Given the description of an element on the screen output the (x, y) to click on. 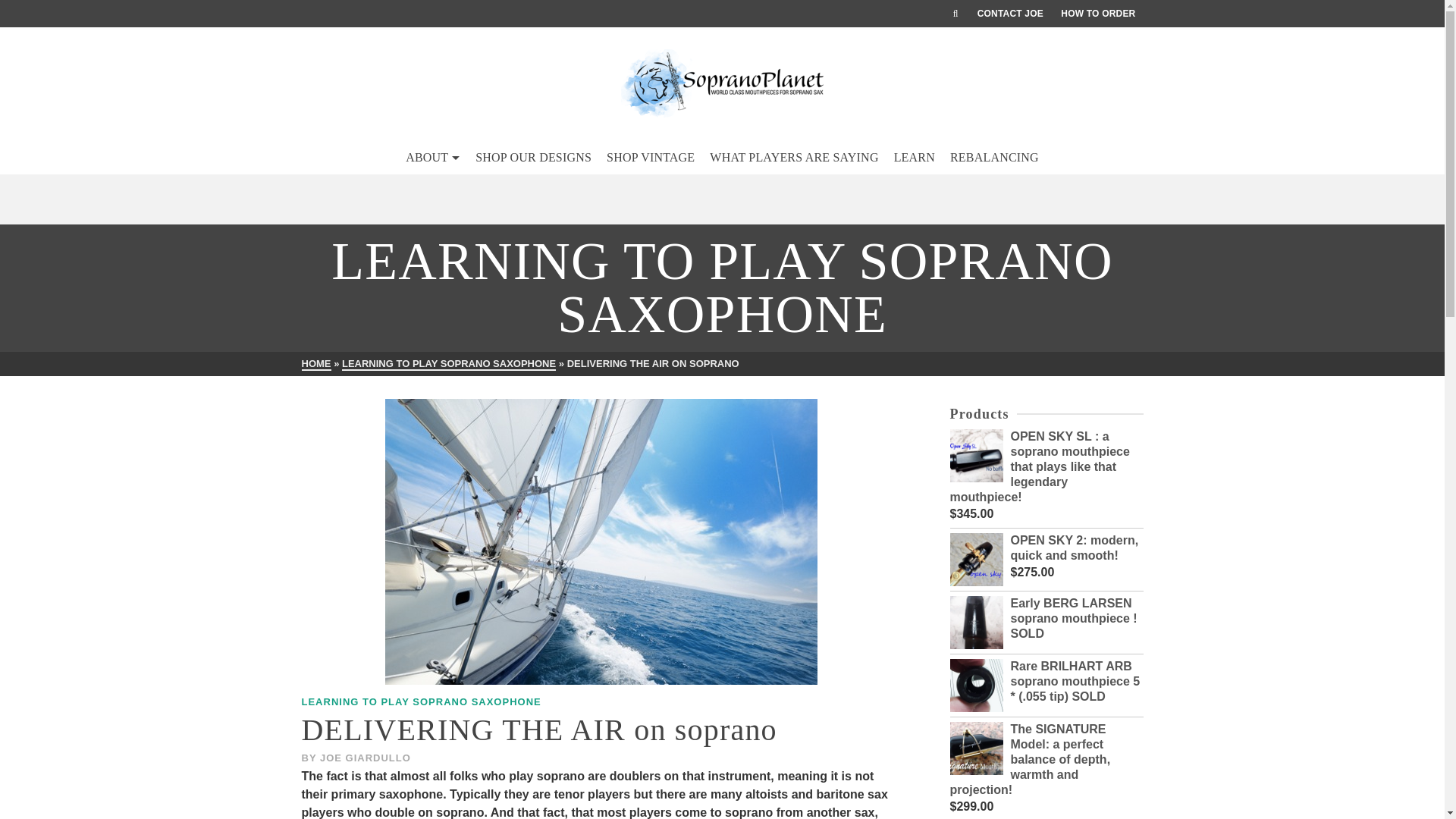
SHOP OUR DESIGNS (532, 157)
CONTACT JOE (1010, 13)
JOE GIARDULLO (365, 757)
SHOP VINTAGE (649, 157)
HOME (316, 364)
ABOUT (432, 157)
LEARNING TO PLAY SOPRANO SAXOPHONE (421, 701)
WHAT PLAYERS ARE SAYING (793, 157)
HOW TO ORDER (1097, 13)
REBALANCING (994, 157)
